Given the description of an element on the screen output the (x, y) to click on. 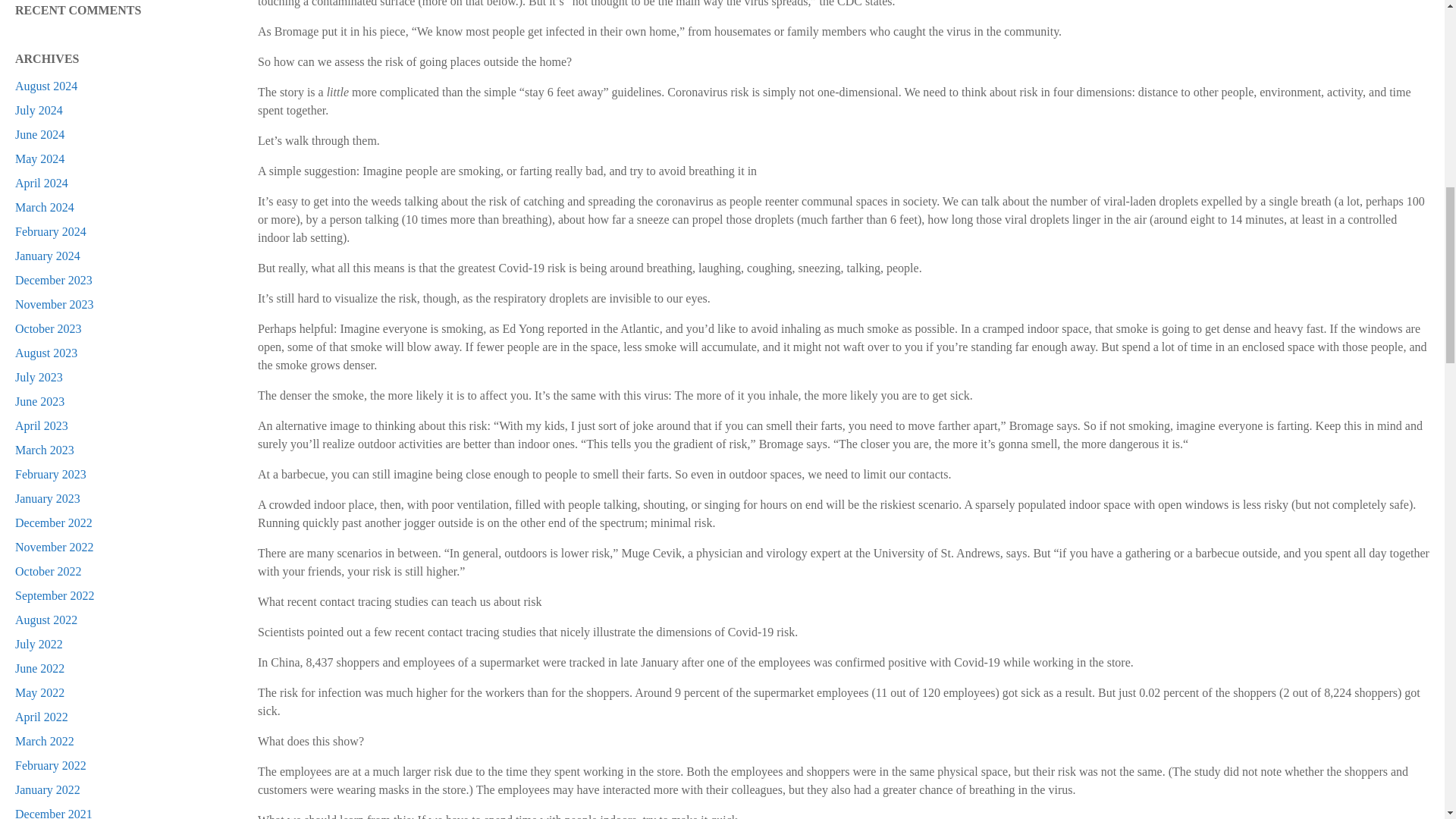
February 2024 (49, 231)
August 2024 (45, 85)
October 2023 (47, 328)
February 2023 (49, 473)
July 2024 (38, 110)
November 2023 (54, 304)
August 2023 (45, 352)
March 2023 (44, 449)
December 2023 (53, 279)
May 2024 (39, 158)
